Given the description of an element on the screen output the (x, y) to click on. 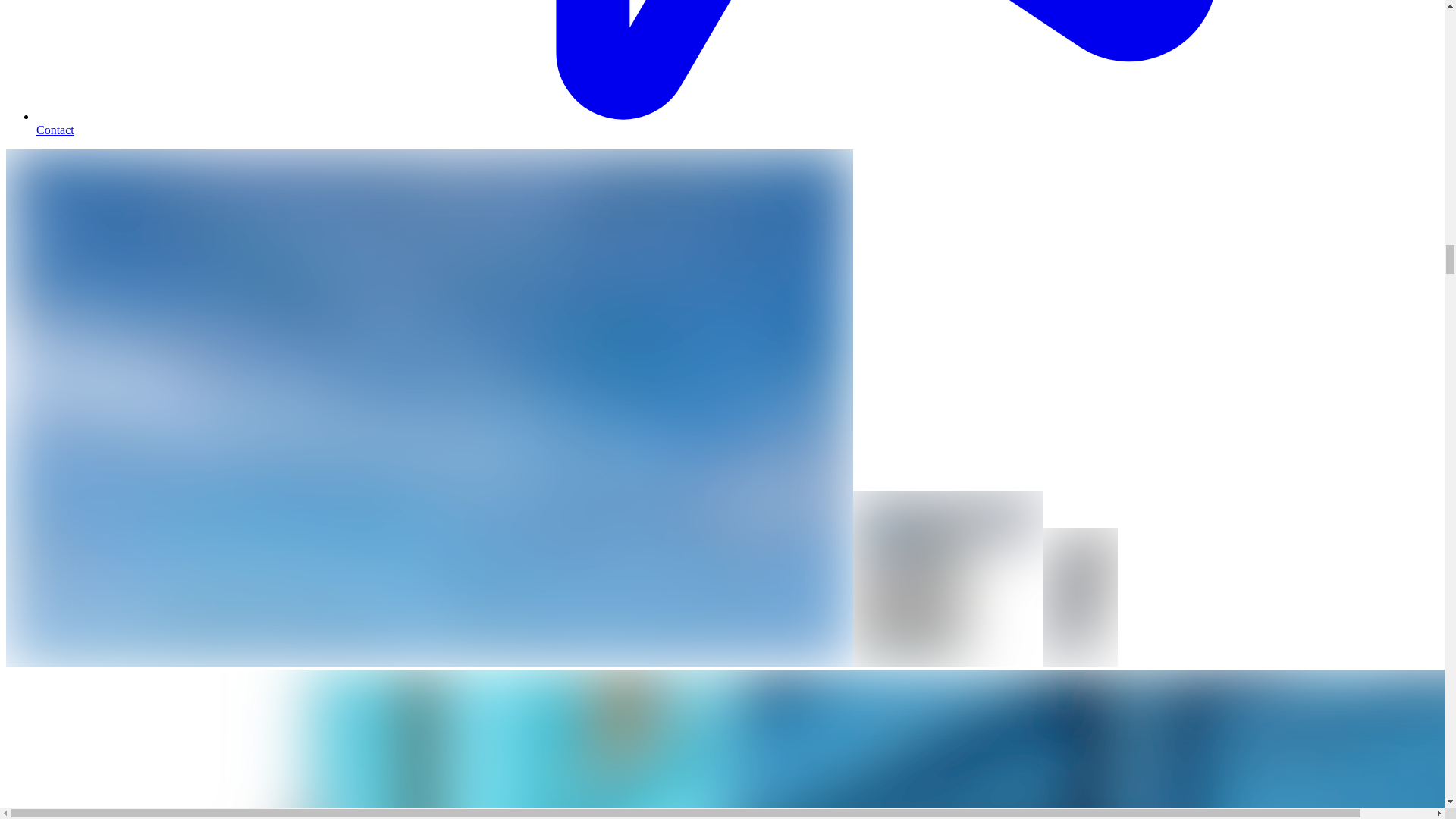
Contact (737, 122)
